Given the description of an element on the screen output the (x, y) to click on. 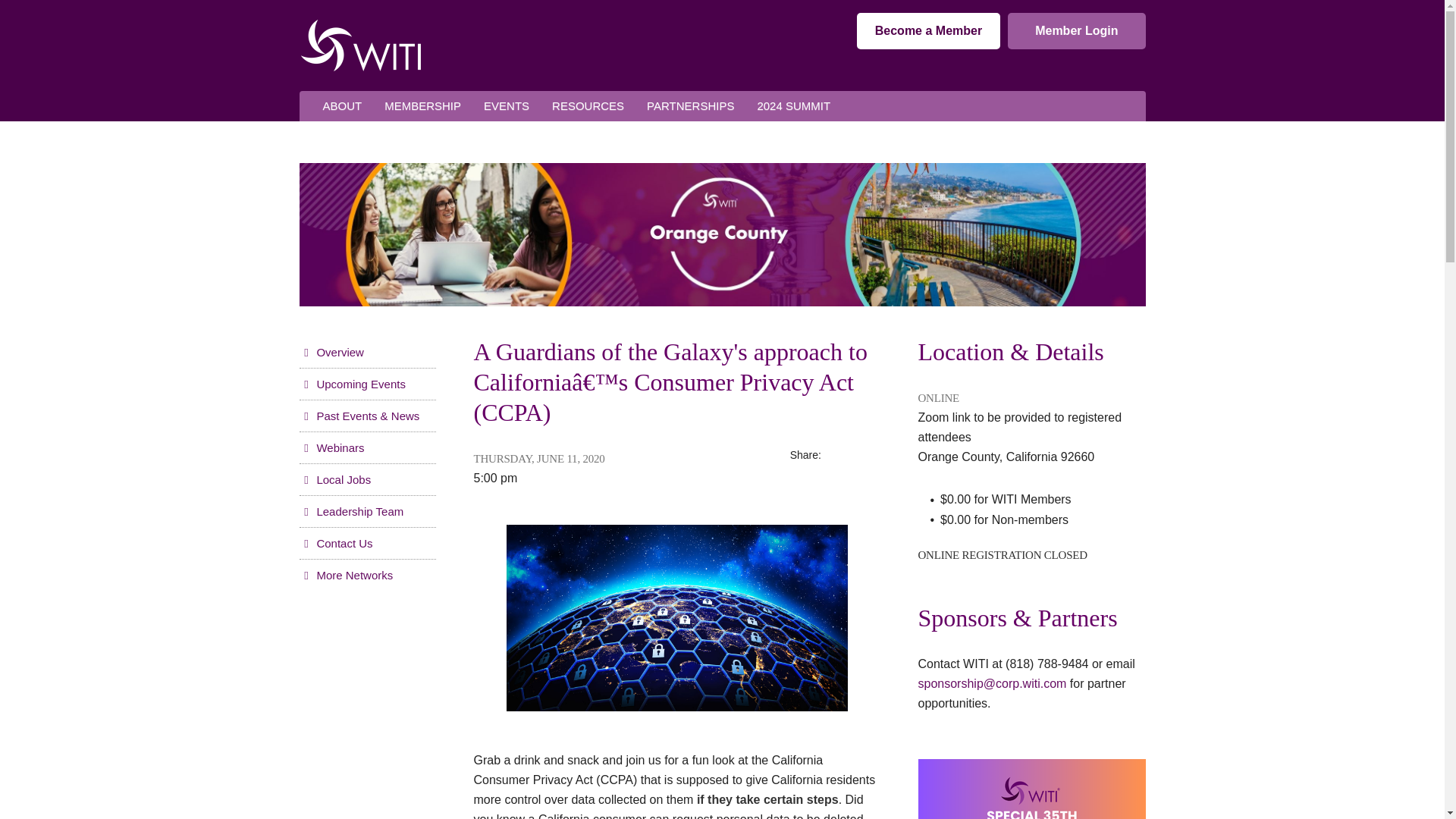
Member Login (1075, 31)
Workforce Innovation, Trust, and Influence (359, 45)
Contact Us (335, 543)
Upcoming Events (351, 384)
PARTNERSHIPS (689, 106)
Become a Member (928, 31)
Overview (330, 352)
More Networks (345, 574)
RESOURCES (587, 106)
ABOUT (341, 106)
Local Jobs (334, 479)
2024 SUMMIT (793, 106)
EVENTS (505, 106)
Webinars (331, 447)
Leadership Team (350, 511)
